Given the description of an element on the screen output the (x, y) to click on. 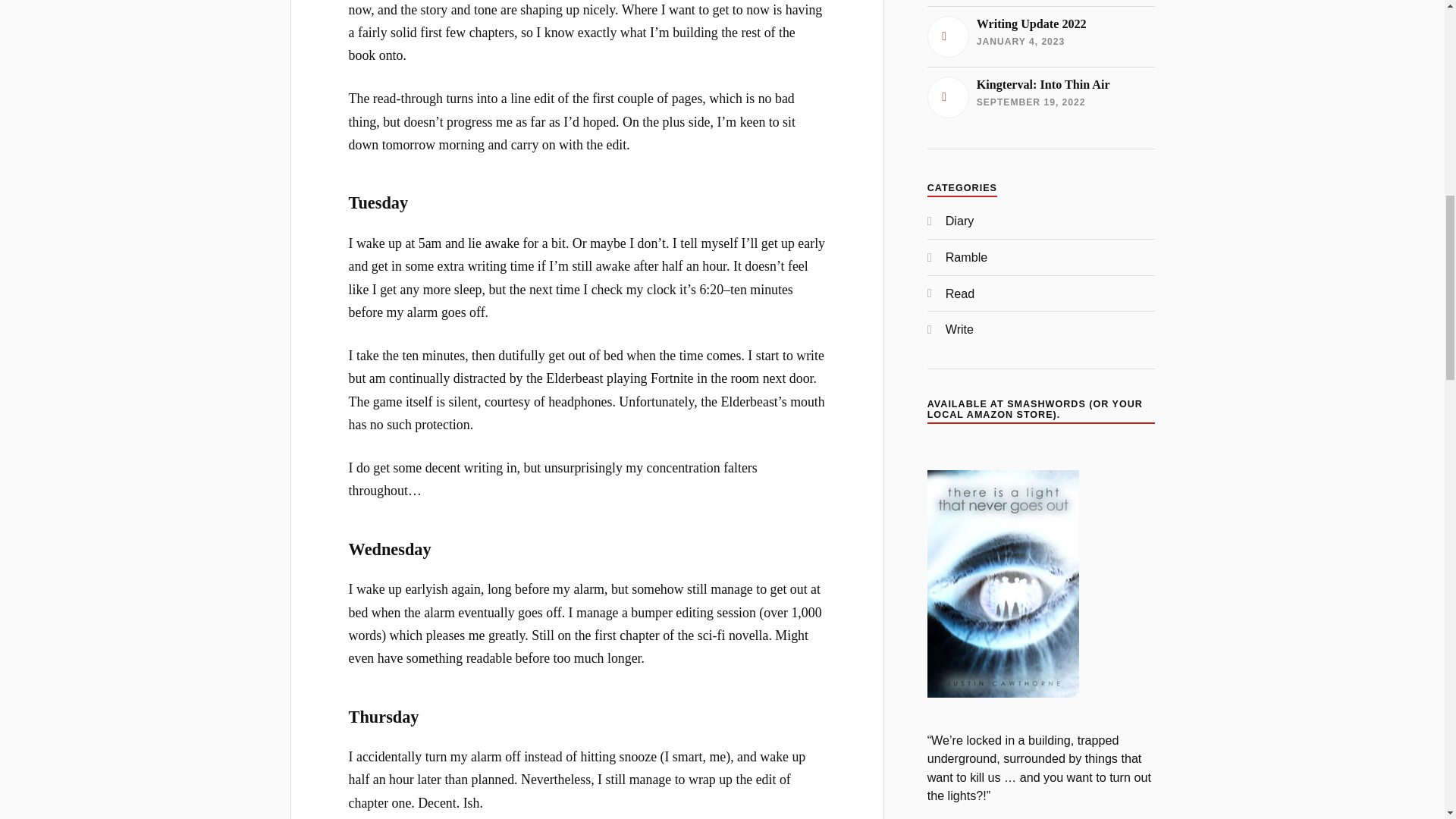
Write (1040, 35)
Ramble (959, 328)
Read (966, 256)
Diary (1040, 96)
